Given the description of an element on the screen output the (x, y) to click on. 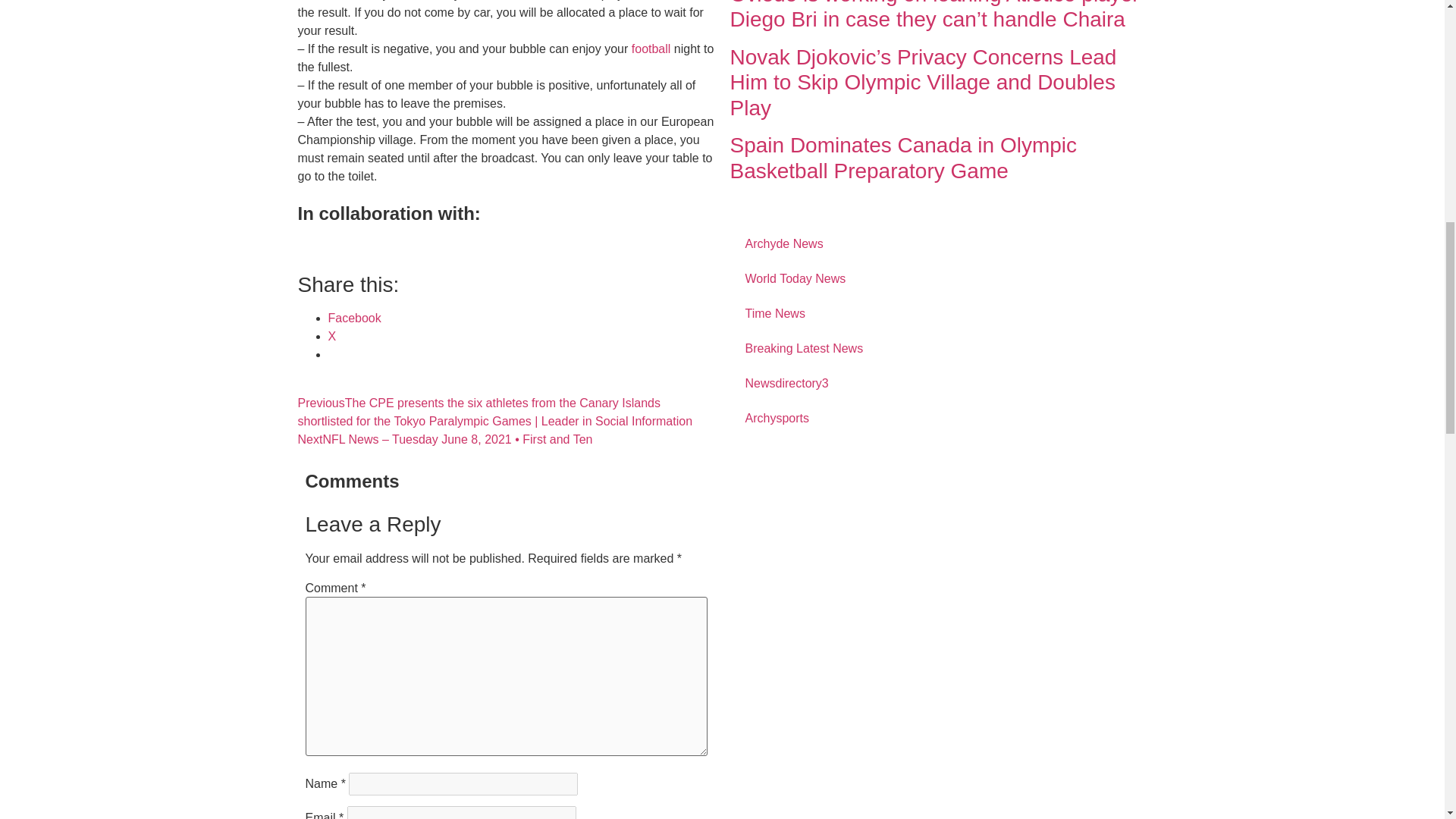
Click to share on Facebook (353, 318)
